Given the description of an element on the screen output the (x, y) to click on. 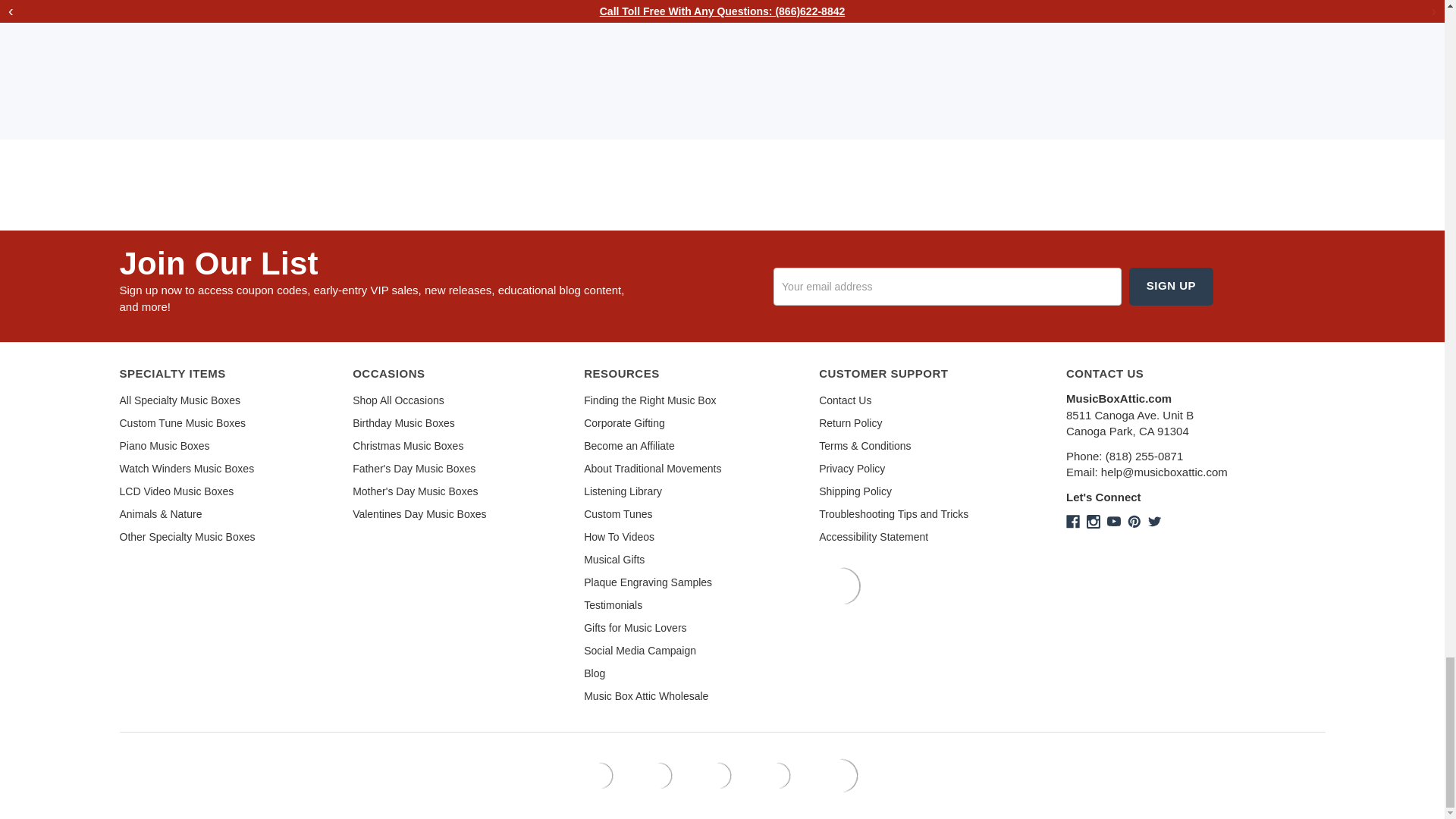
Sign Up (1170, 285)
